Given the description of an element on the screen output the (x, y) to click on. 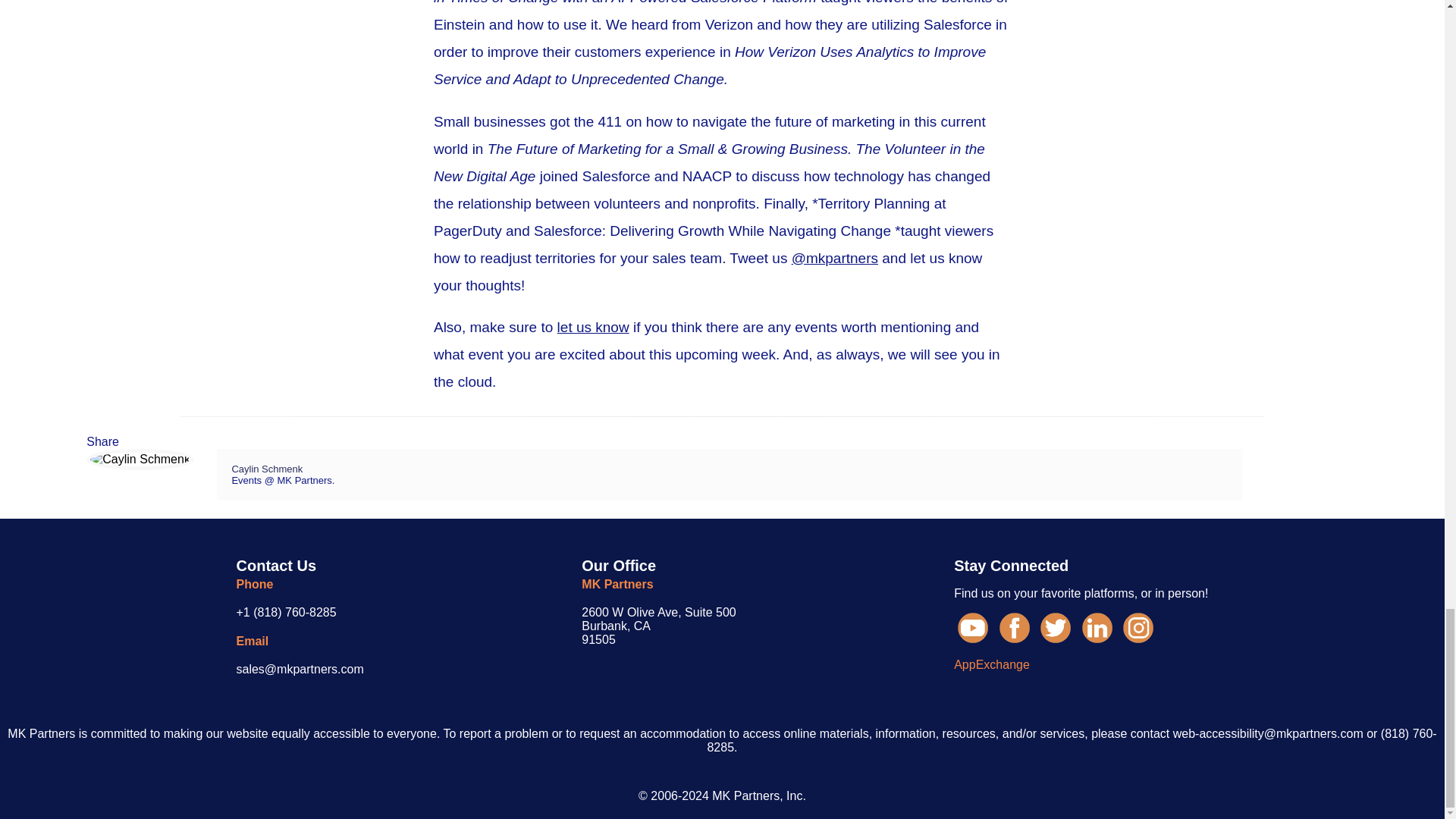
let us know (592, 326)
Caylin Schmenk (657, 626)
AppExchange (266, 469)
